Given the description of an element on the screen output the (x, y) to click on. 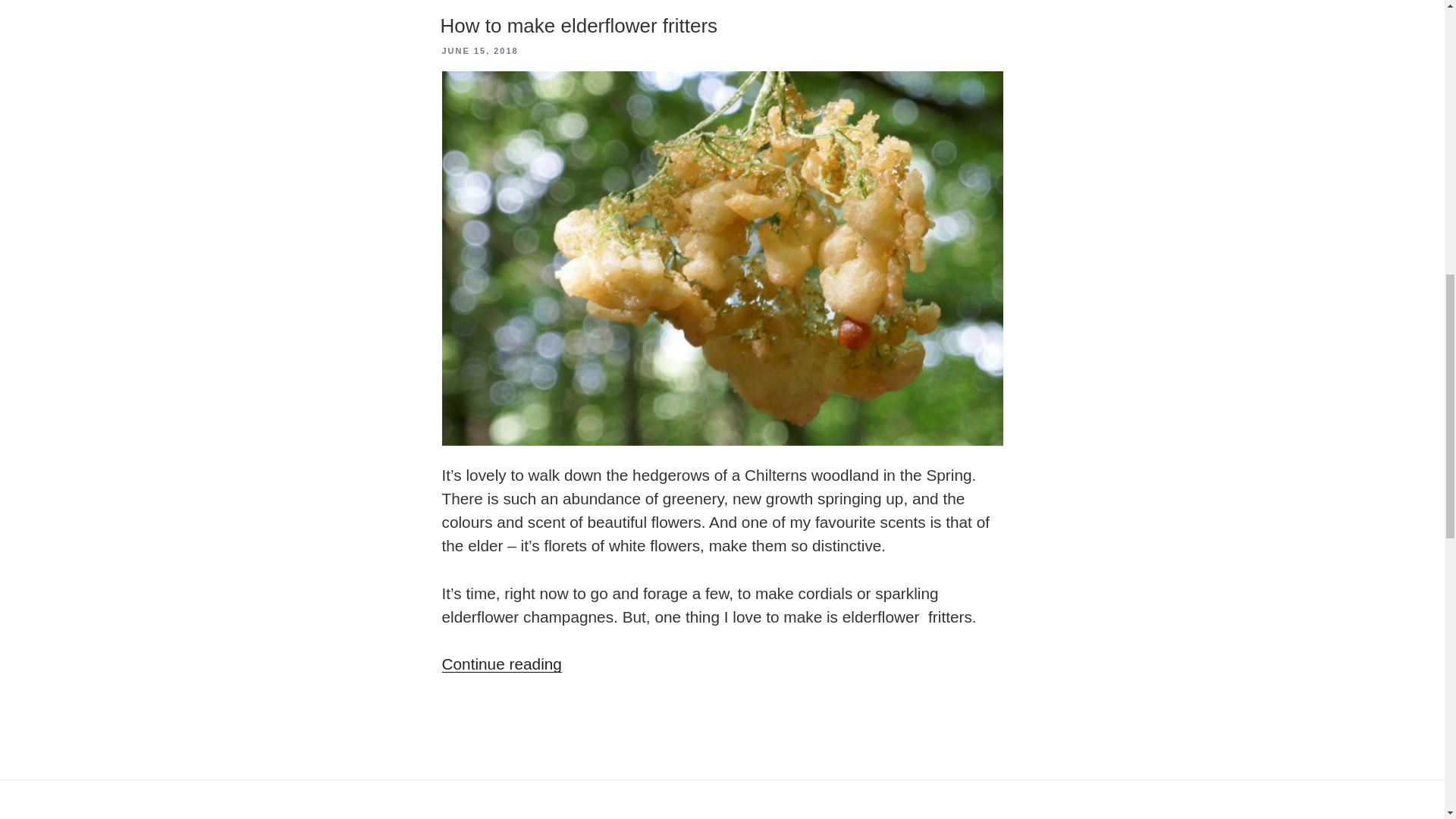
How to make elderflower fritters (578, 25)
